Given the description of an element on the screen output the (x, y) to click on. 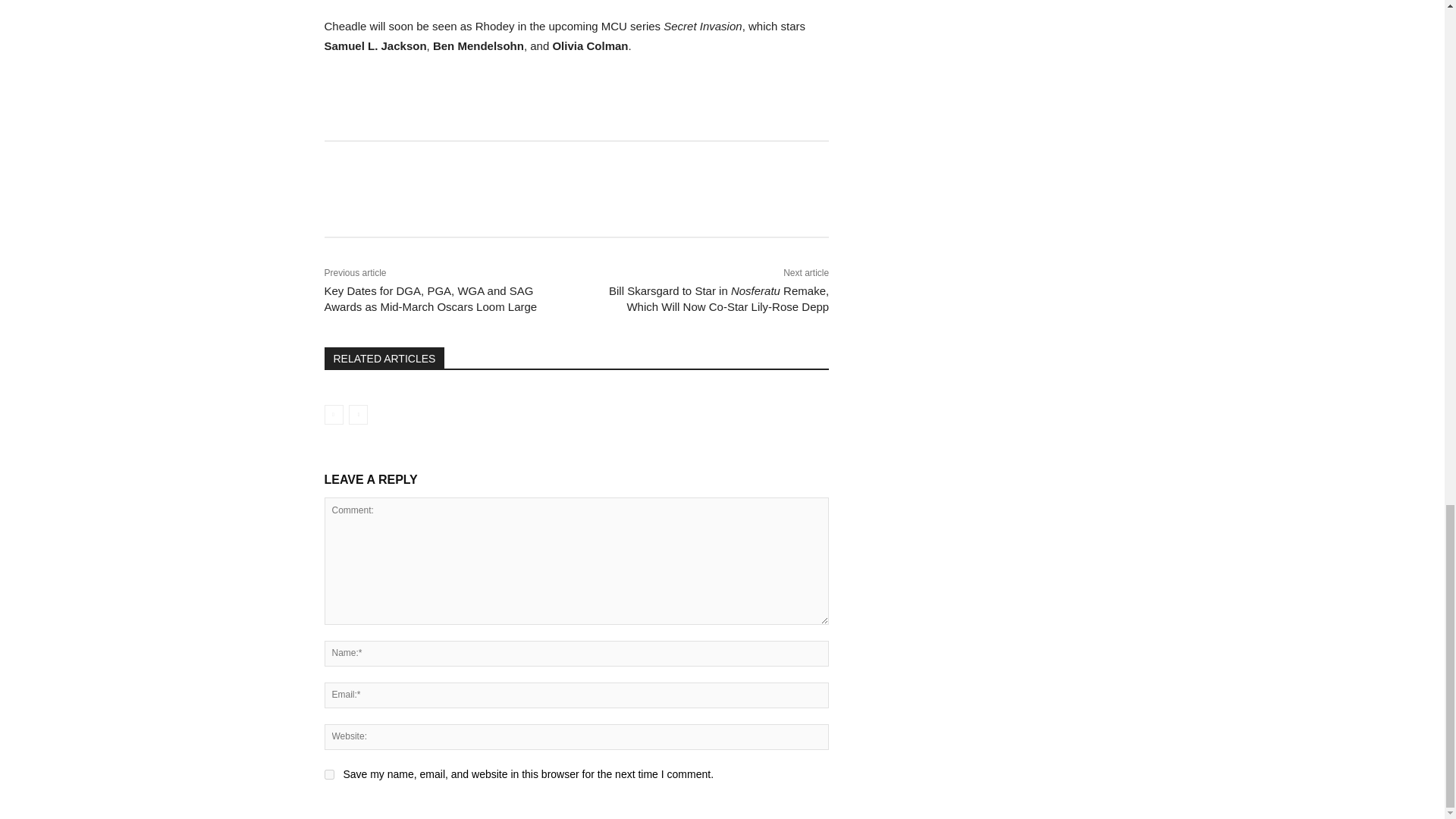
yes (329, 774)
